Given the description of an element on the screen output the (x, y) to click on. 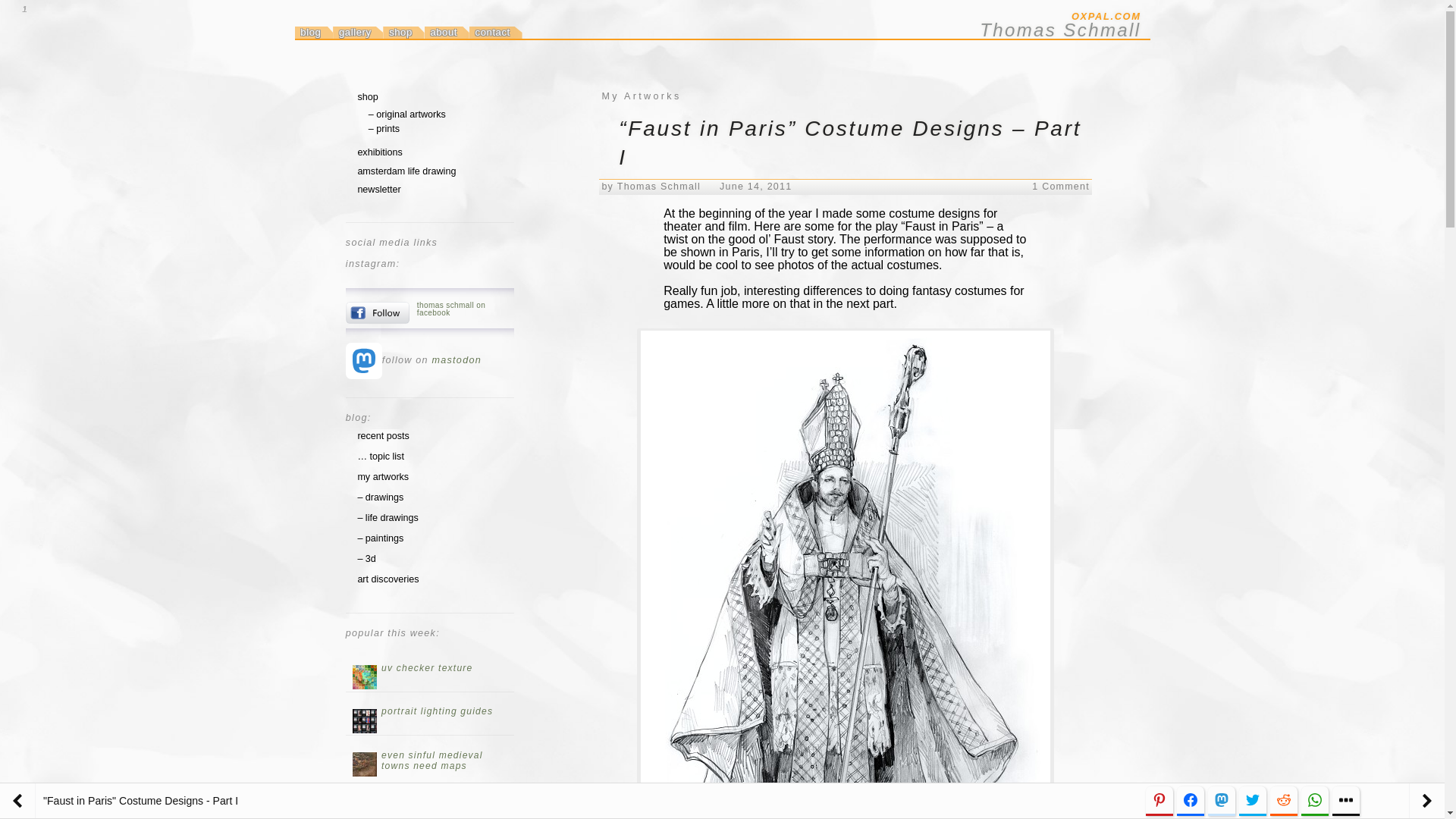
shop (366, 96)
about (446, 32)
shop (402, 32)
List Recent Blog Posts (382, 435)
Posts with my Artworks (382, 476)
gallery (357, 32)
Blog Posts with Drawings (379, 497)
Original Artworks to Buy (406, 113)
Prints of Artworks to Buy (383, 128)
My Artworks (641, 95)
Cloud of All Topics (380, 456)
1 Comment (1060, 185)
blog (313, 32)
Buy prints or original artworks (366, 96)
exhibitions (378, 152)
